Given the description of an element on the screen output the (x, y) to click on. 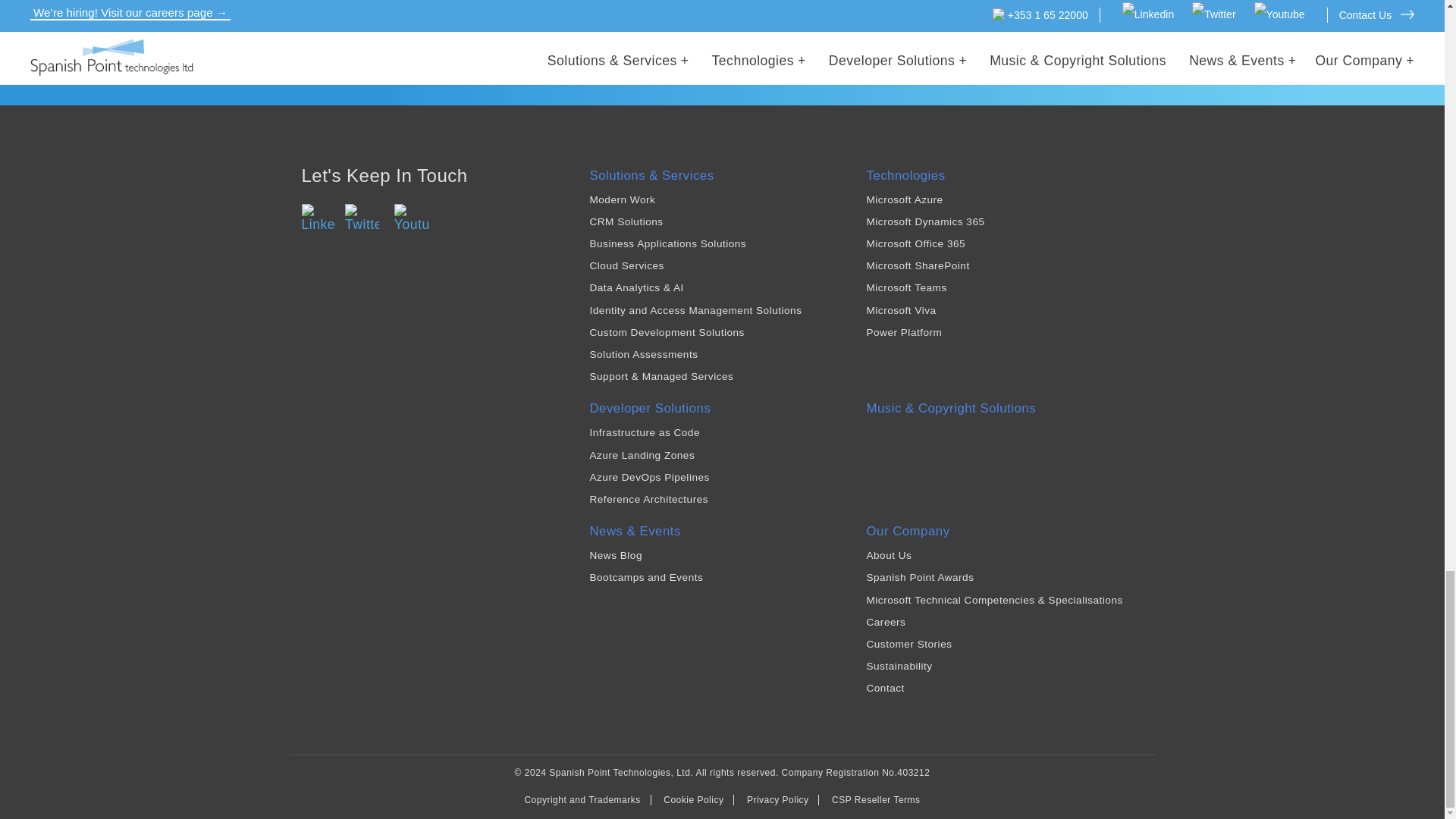
Spanish Point Twitter (361, 218)
Spanish Point YouTube (411, 218)
Spanish Point Linkedin (318, 218)
